Given the description of an element on the screen output the (x, y) to click on. 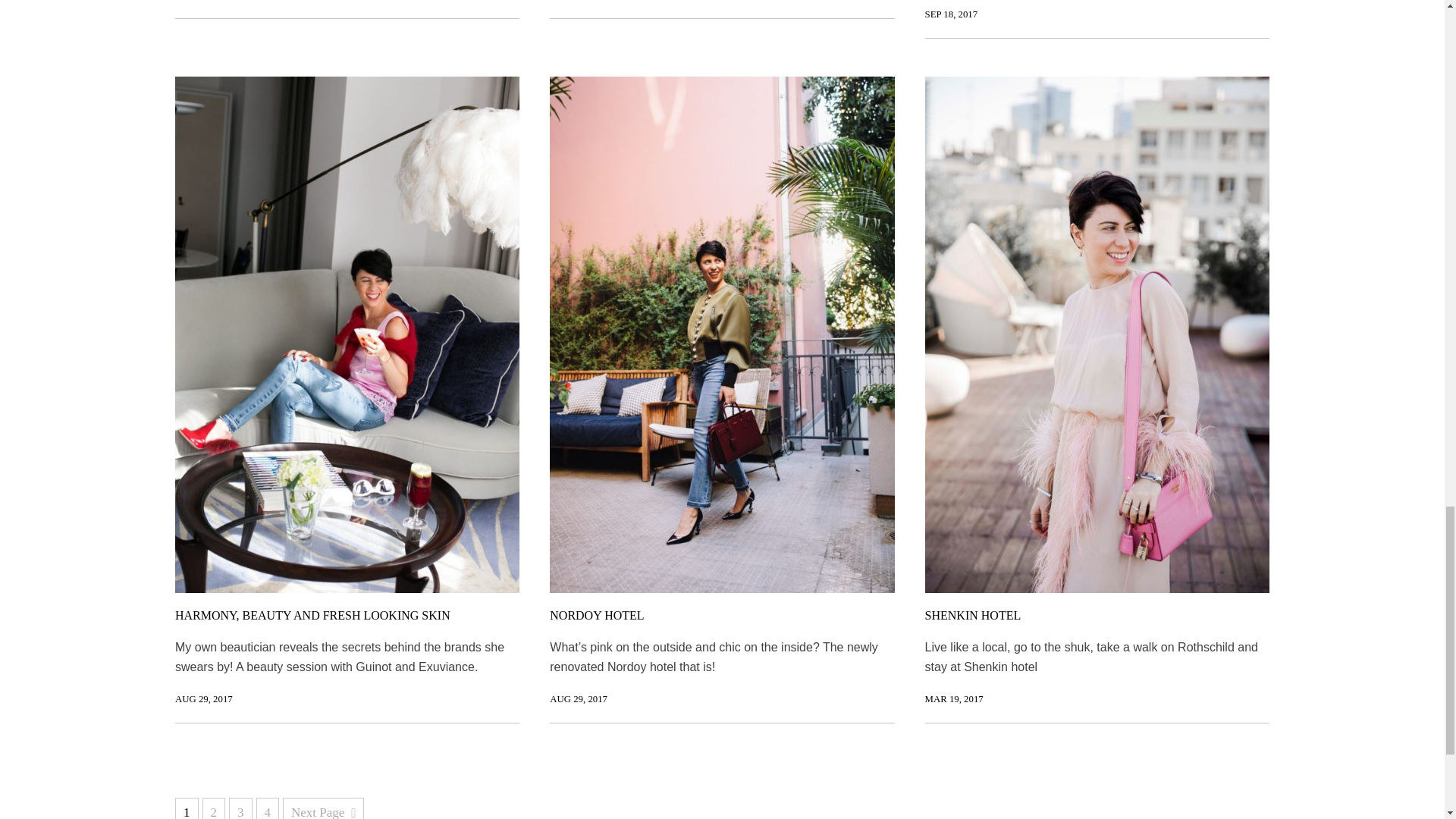
HARMONY, BEAUTY AND FRESH LOOKING SKIN (311, 615)
Permalink to Nok Beauty (951, 13)
AUG 29, 2017 (203, 698)
Permalink to Harmony, beauty and fresh looking skin (203, 698)
Permalink to SHENKIN Hotel (954, 698)
Permalink to Nordoy Hotel (578, 698)
SEP 18, 2017 (951, 13)
